Given the description of an element on the screen output the (x, y) to click on. 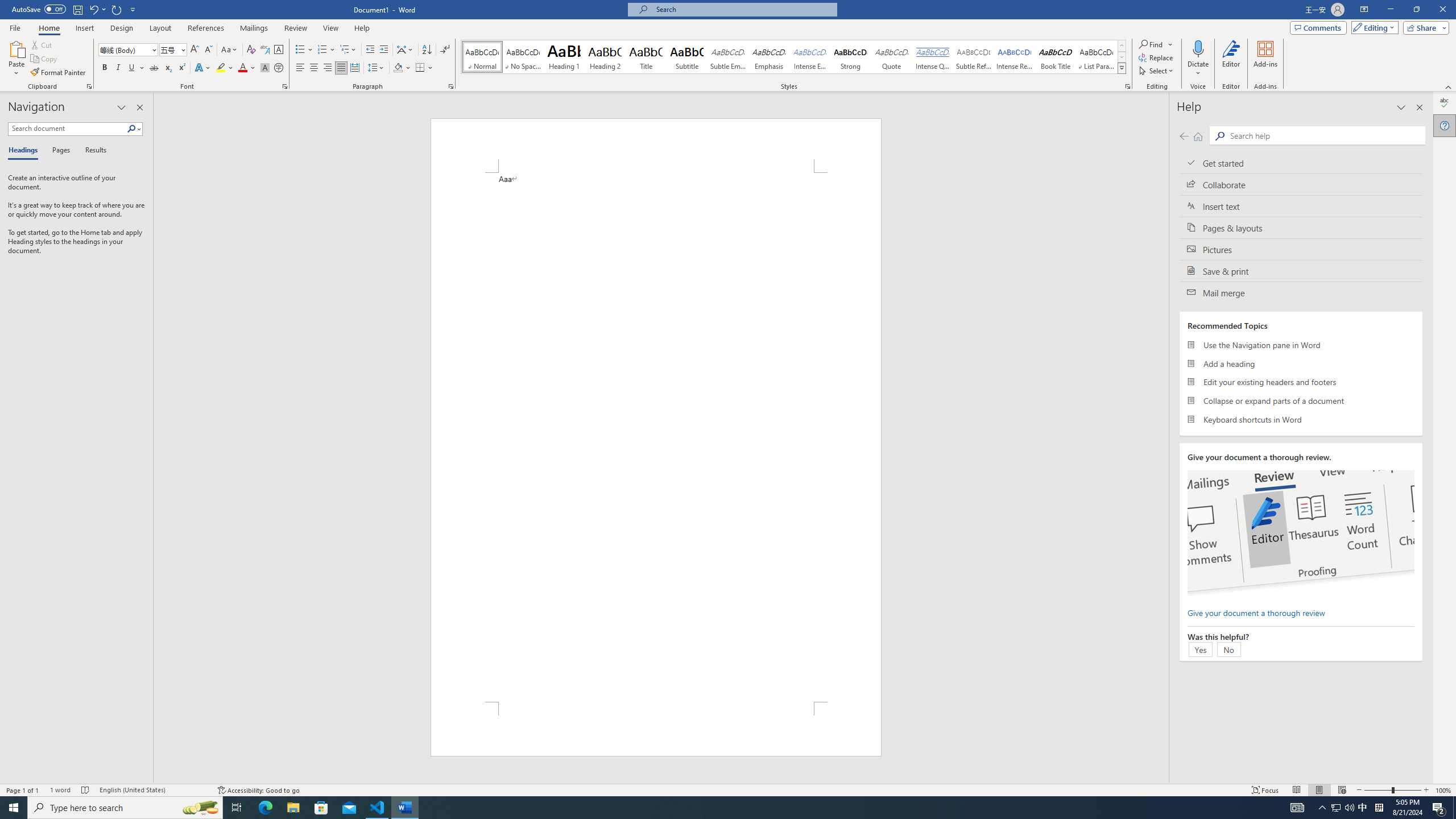
Align Right (327, 67)
Intense Reference (1014, 56)
Justify (340, 67)
View (330, 28)
Give your document a thorough review (1256, 611)
More Options (1197, 68)
Italic (118, 67)
Show/Hide Editing Marks (444, 49)
Close (1442, 9)
Find (1151, 44)
Help (1444, 125)
Mail merge (1300, 292)
Font (124, 49)
Review (295, 28)
Format Painter (58, 72)
